Given the description of an element on the screen output the (x, y) to click on. 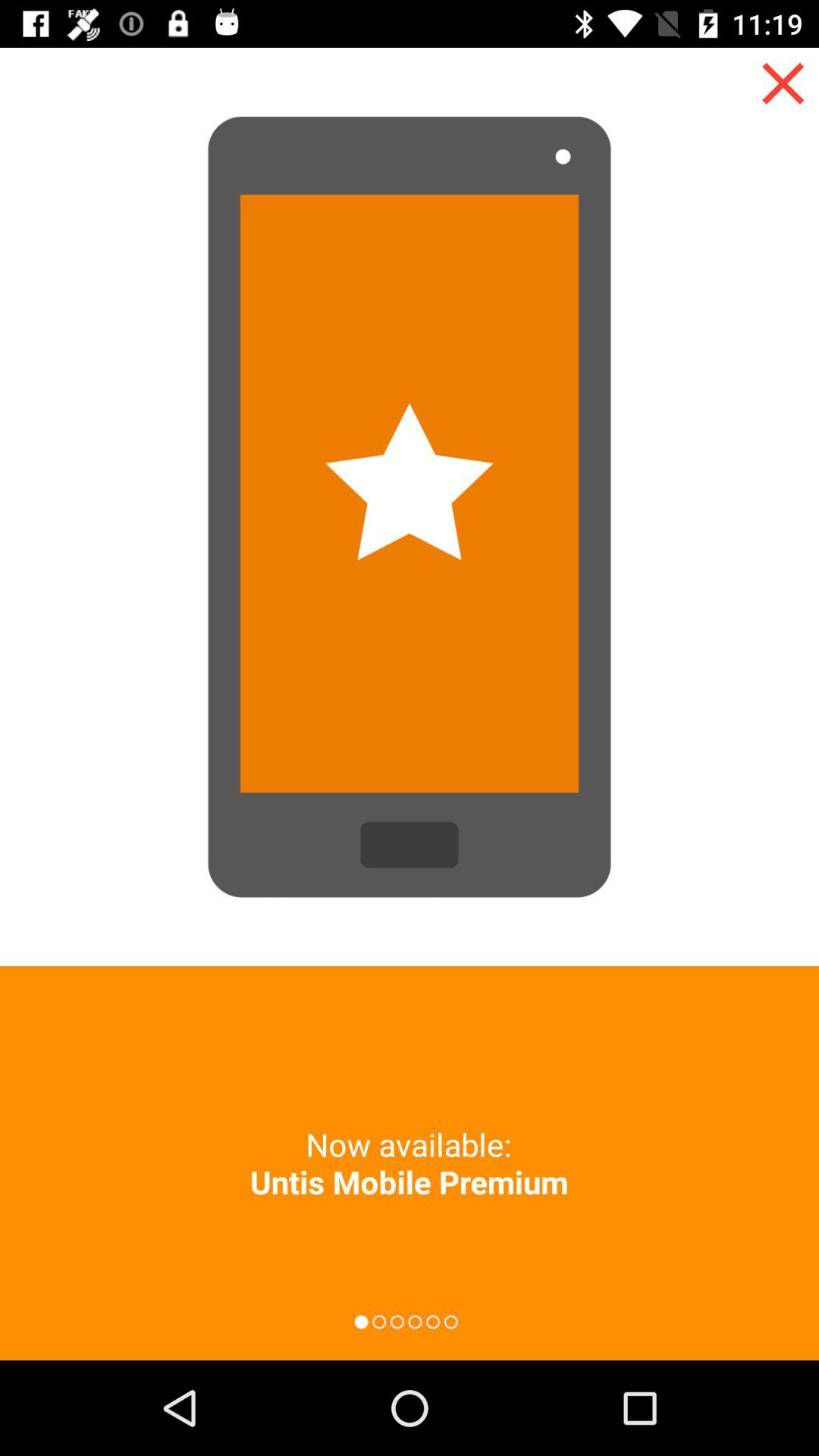
close advertisement page (783, 83)
